Given the description of an element on the screen output the (x, y) to click on. 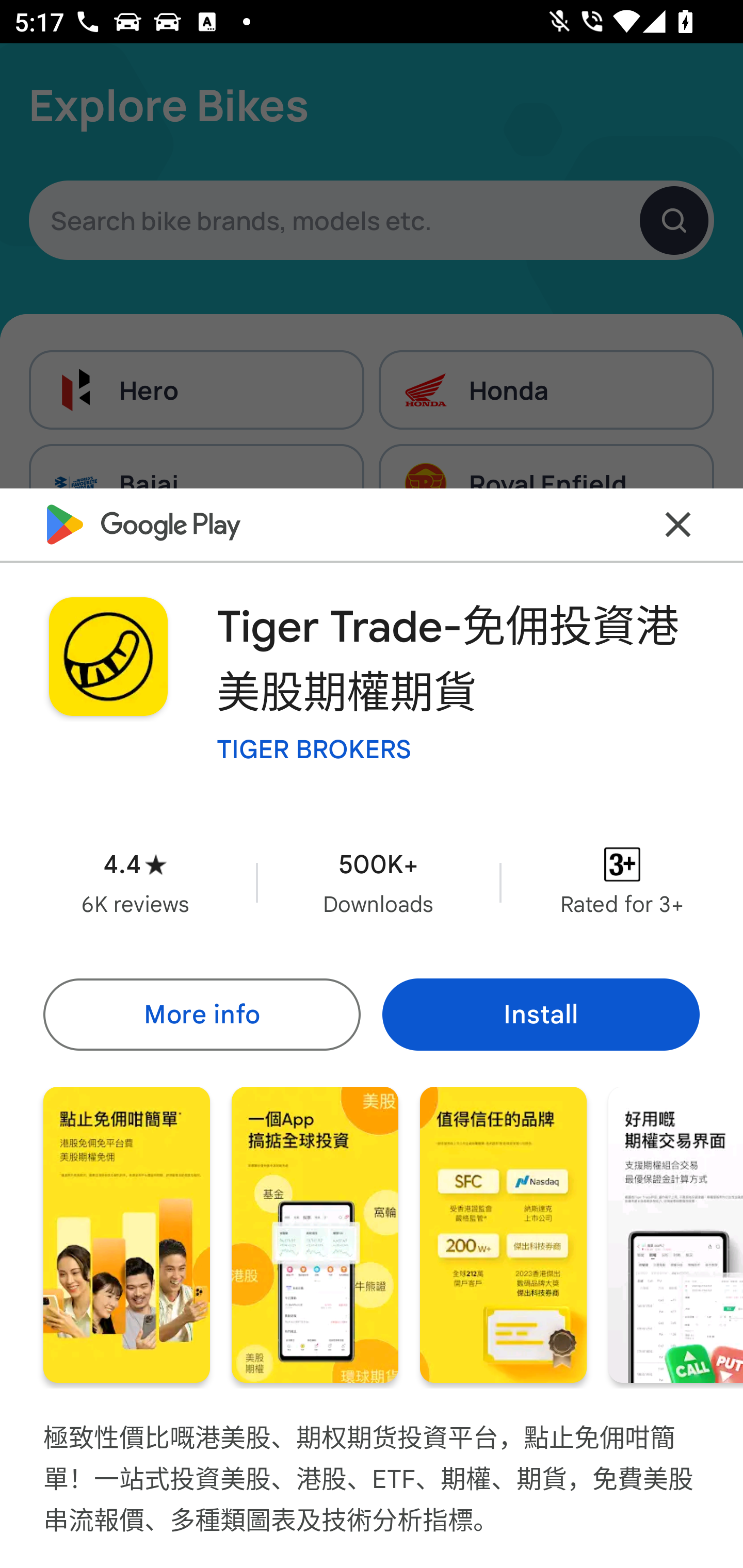
Close (677, 525)
TIGER BROKERS (313, 748)
More info (201, 1014)
Install (540, 1014)
Screenshot "1" of "8" (126, 1234)
Screenshot "2" of "8" (314, 1234)
Screenshot "3" of "8" (502, 1234)
Screenshot "4" of "8" (675, 1234)
